Given the description of an element on the screen output the (x, y) to click on. 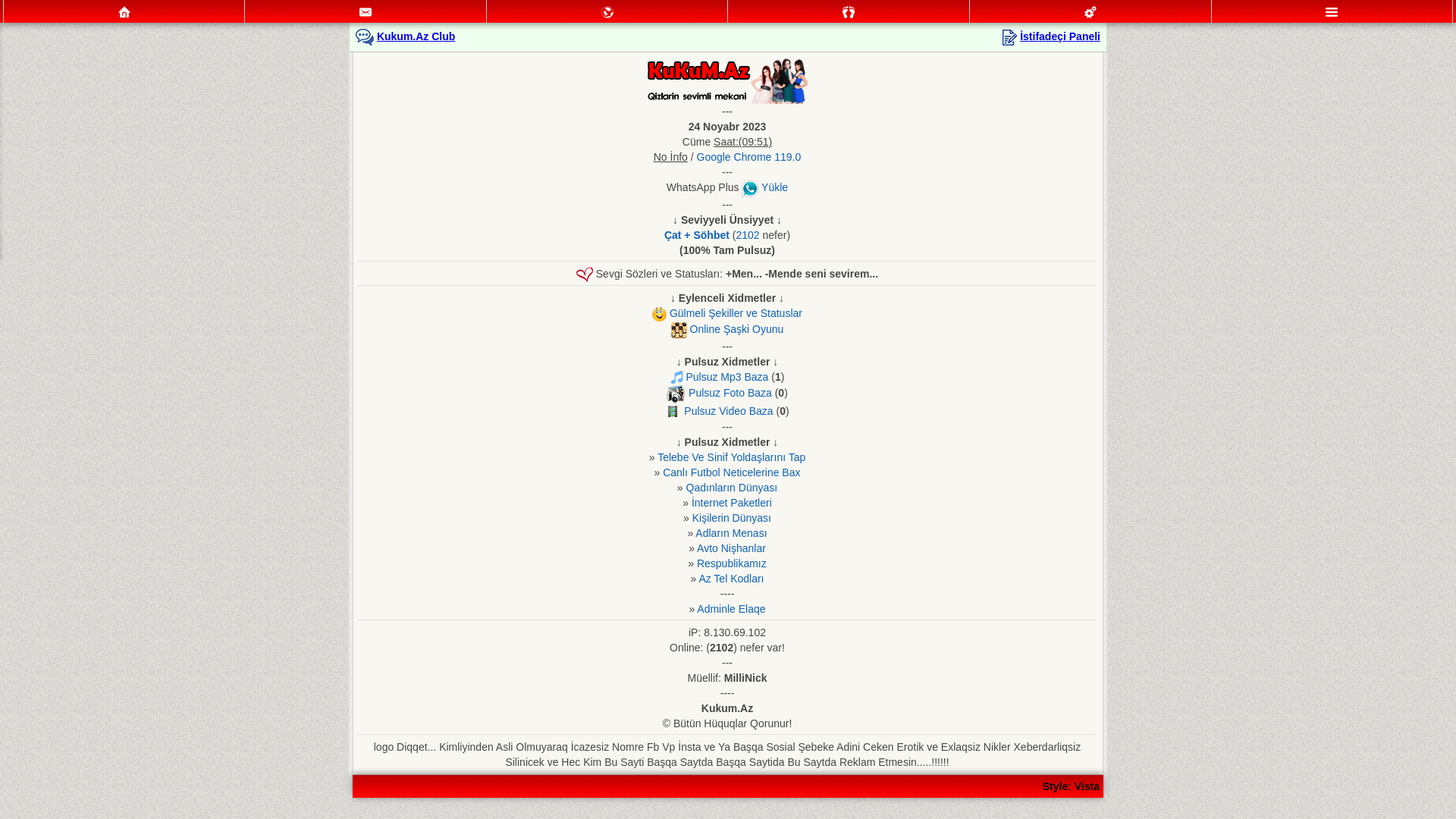
Ana Sehife Element type: hover (124, 12)
2102 Element type: text (747, 235)
Qonaqlar Element type: hover (848, 11)
Ana Sehife Element type: hover (123, 11)
Mesajlar Element type: hover (365, 11)
Style: Vista Element type: text (1070, 786)
Adminle Elaqe Element type: text (730, 608)
Qonaqlar Element type: hover (848, 12)
Kukum.Az Club Element type: text (415, 36)
Mektublar Element type: hover (607, 11)
Pulsuz Mp3 Baza Element type: text (726, 376)
Pulsuz Foto Baza Element type: text (729, 392)
Google Chrome 119.0 Element type: text (748, 156)
Mesajlar Element type: hover (365, 12)
Pulsuz Video Baza Element type: text (728, 410)
Mektublar Element type: hover (607, 12)
